Given the description of an element on the screen output the (x, y) to click on. 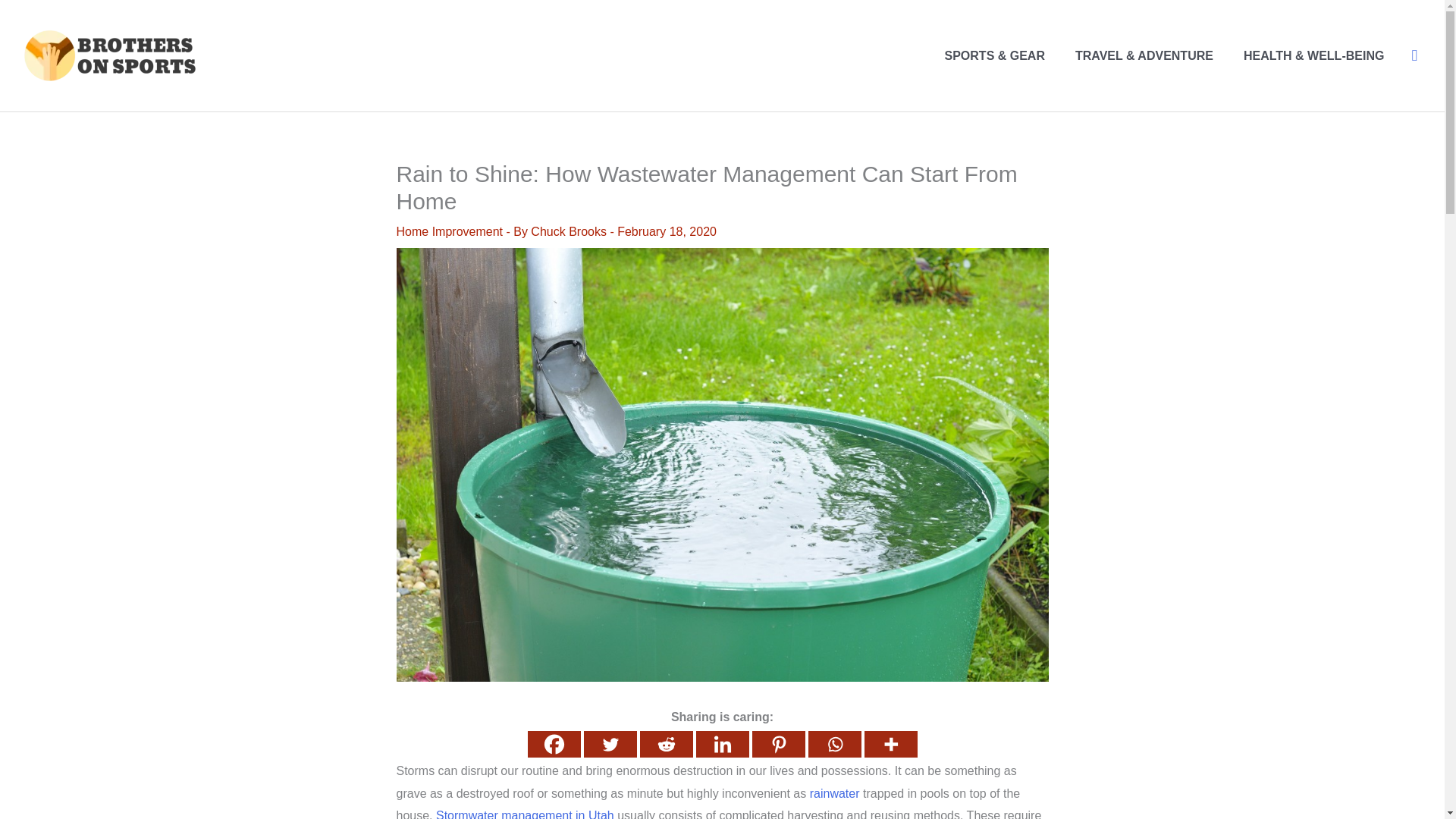
Twitter (610, 744)
Stormwater management in Utah (524, 814)
Facebook (553, 744)
View all posts by Chuck Brooks (570, 231)
More (890, 744)
Reddit (666, 744)
Pinterest (778, 744)
rainwater (834, 793)
Erosion Control Services (524, 814)
Whatsapp (834, 744)
